Given the description of an element on the screen output the (x, y) to click on. 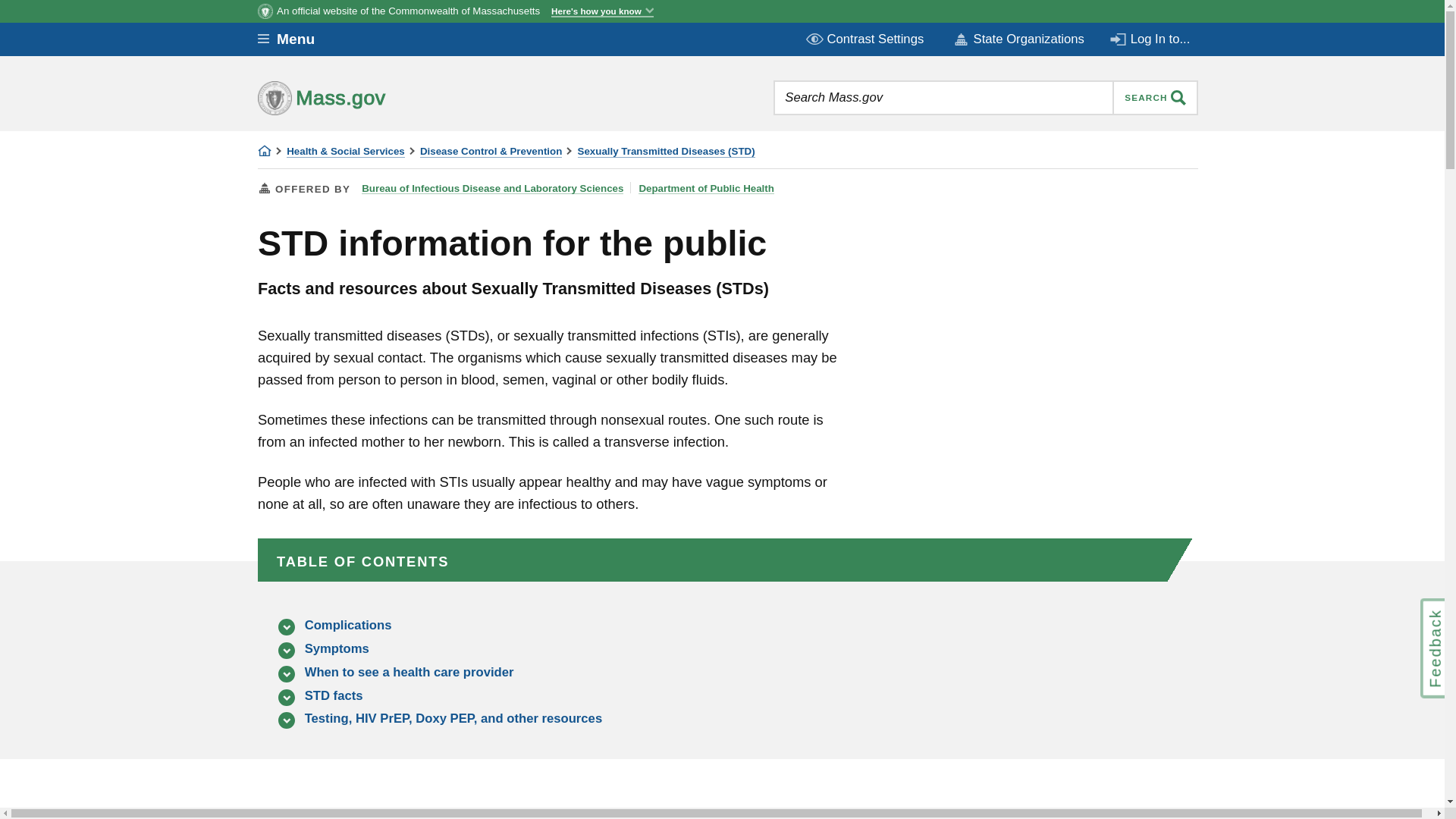
State Organizations (1018, 39)
Menu (297, 39)
Mass.gov home page (369, 97)
Contrast Settings (866, 38)
Log In to... (1151, 38)
